Given the description of an element on the screen output the (x, y) to click on. 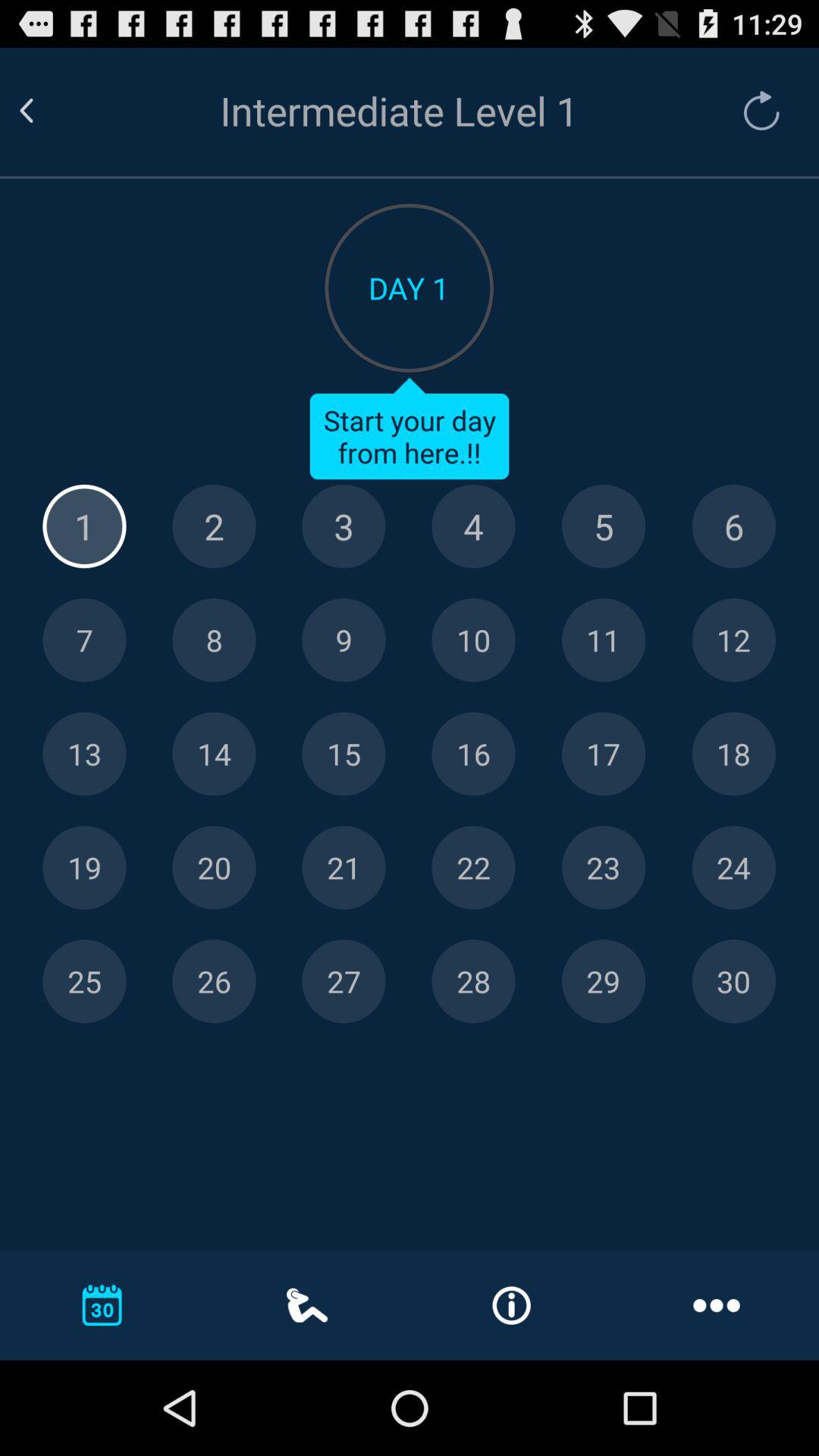
go to day 4 (473, 526)
